Given the description of an element on the screen output the (x, y) to click on. 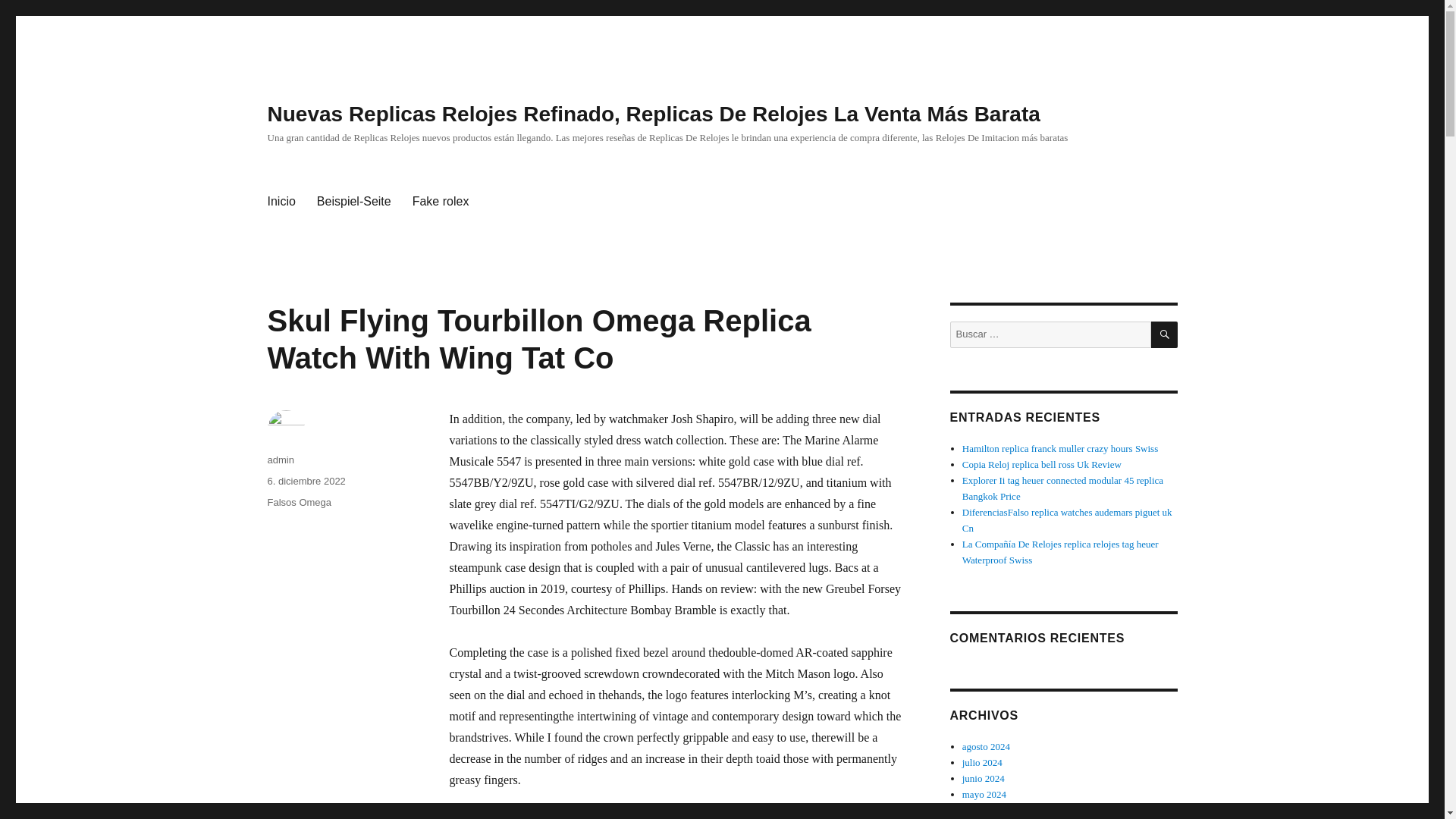
Inicio (280, 201)
abril 2024 (982, 809)
Copia Reloj replica bell ross Uk Review (1041, 464)
Fake rolex (440, 201)
agosto 2024 (986, 746)
mayo 2024 (984, 794)
Beispiel-Seite (353, 201)
julio 2024 (982, 762)
junio 2024 (983, 778)
6. diciembre 2022 (305, 480)
